Given the description of an element on the screen output the (x, y) to click on. 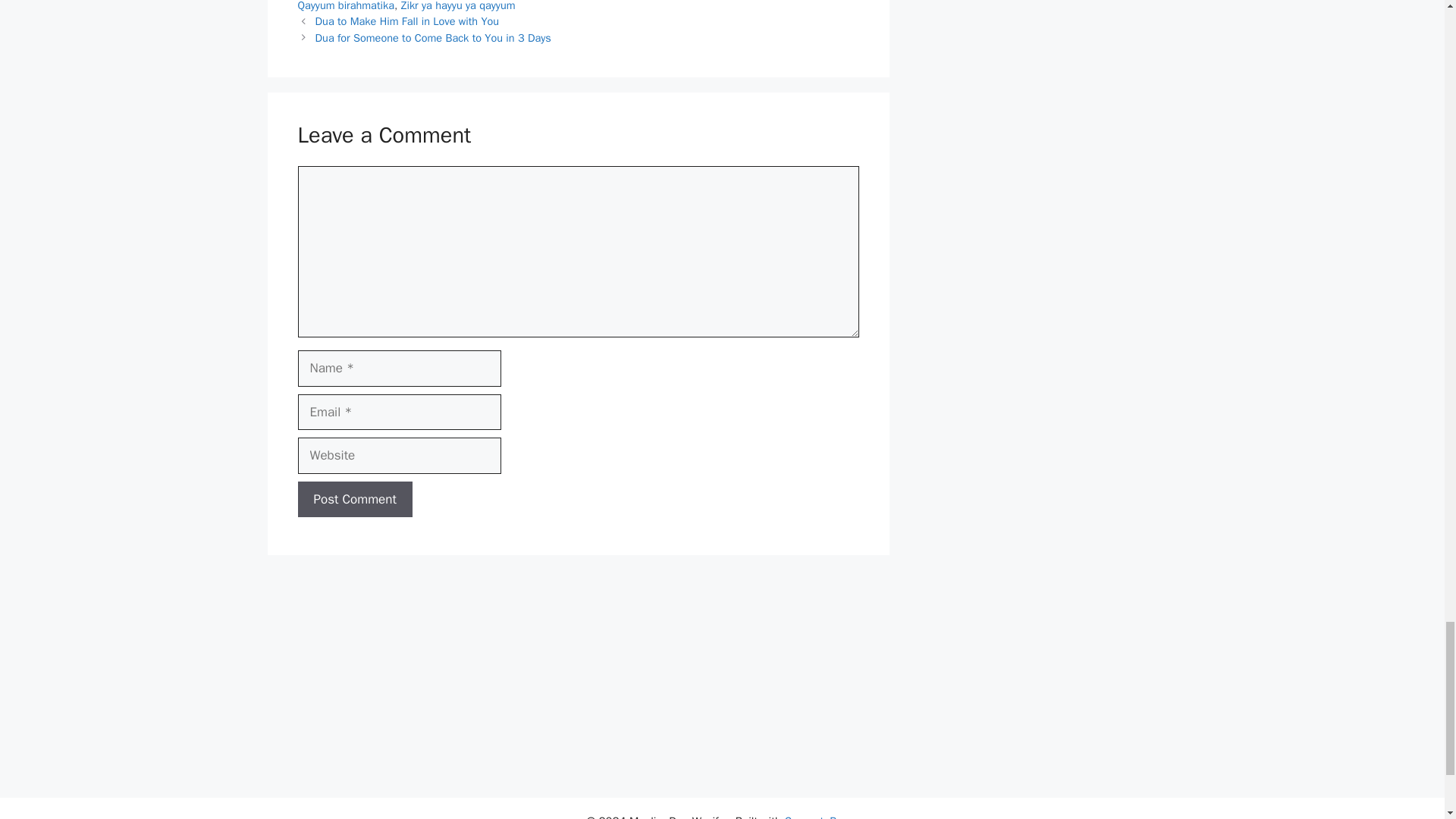
Dua for Someone to Come Back to You in 3 Days (433, 38)
Zikr ya hayyu ya qayyum (458, 6)
Zikir Ya Hayyu ya Qayyum birahmatika (570, 6)
Post Comment (354, 499)
Dua to Make Him Fall in Love with You (407, 20)
Post Comment (354, 499)
